Given the description of an element on the screen output the (x, y) to click on. 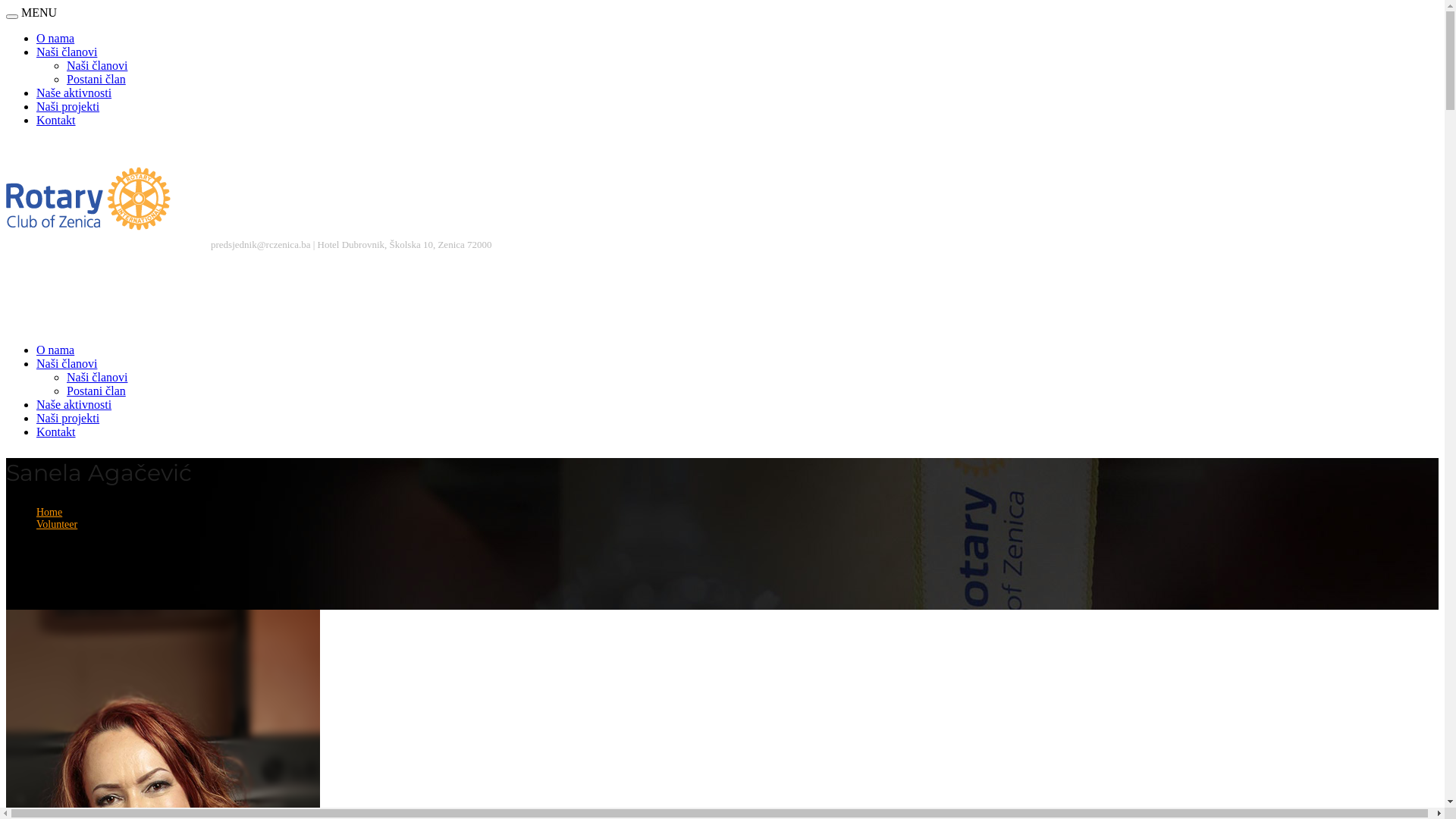
O nama Element type: text (55, 37)
Home Element type: text (49, 511)
Kontakt Element type: text (55, 119)
O nama Element type: text (55, 349)
Kontakt Element type: text (55, 431)
Volunteer Element type: text (56, 524)
